Given the description of an element on the screen output the (x, y) to click on. 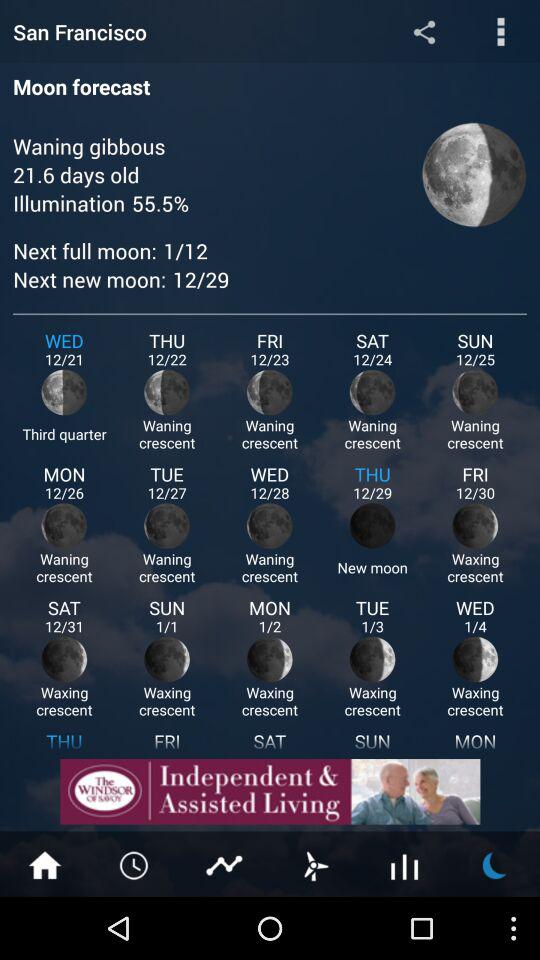
add an hour (135, 864)
